Given the description of an element on the screen output the (x, y) to click on. 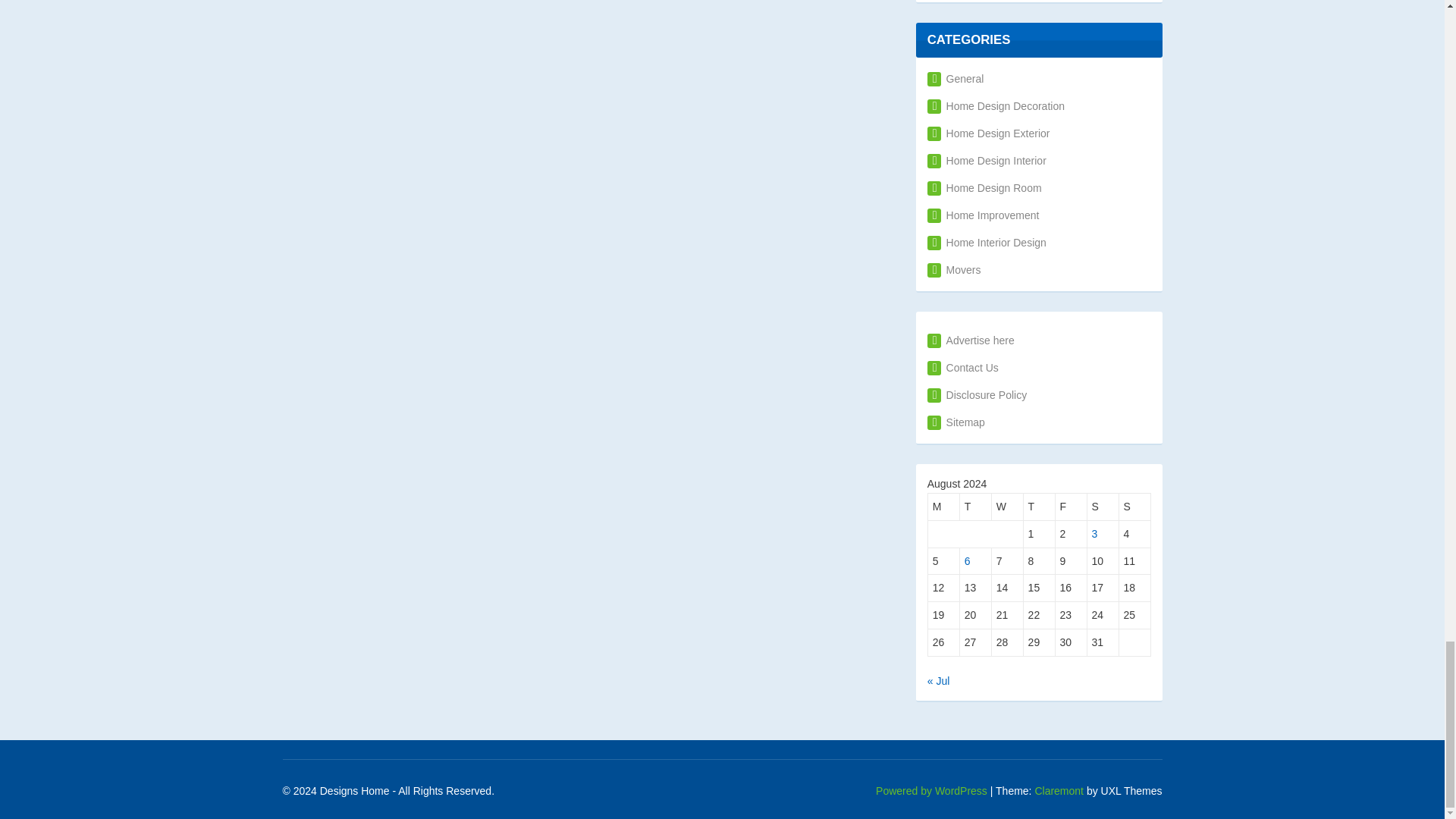
Saturday (1103, 506)
Friday (1071, 506)
Tuesday (975, 506)
Wednesday (1007, 506)
Sunday (1135, 506)
Thursday (1039, 506)
Monday (943, 506)
